Given the description of an element on the screen output the (x, y) to click on. 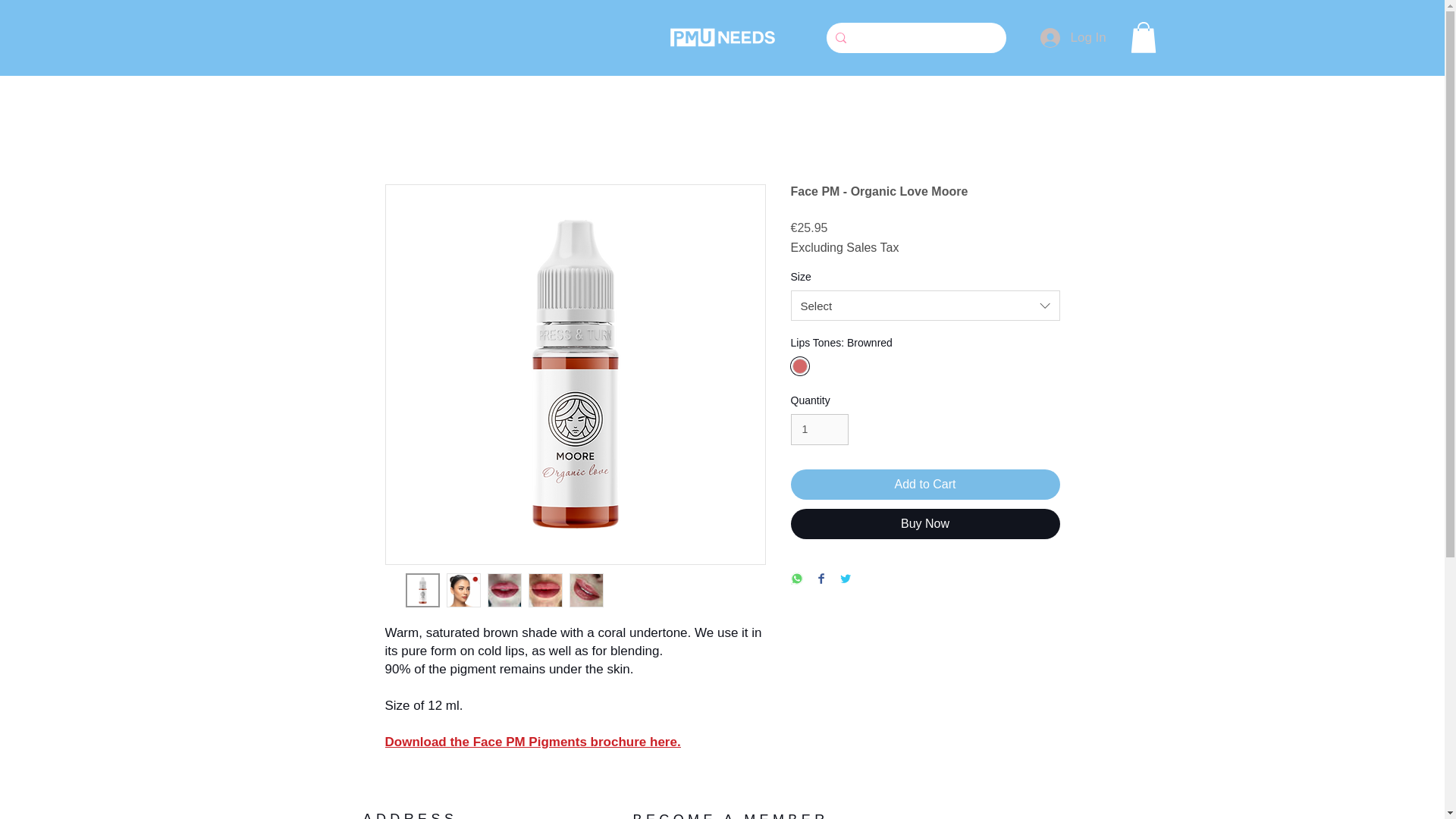
1 (818, 429)
Download the Face PM Pigments brochure here. (533, 741)
Buy Now (924, 523)
Log In (1059, 37)
Add to Cart (924, 484)
Select (924, 305)
